Given the description of an element on the screen output the (x, y) to click on. 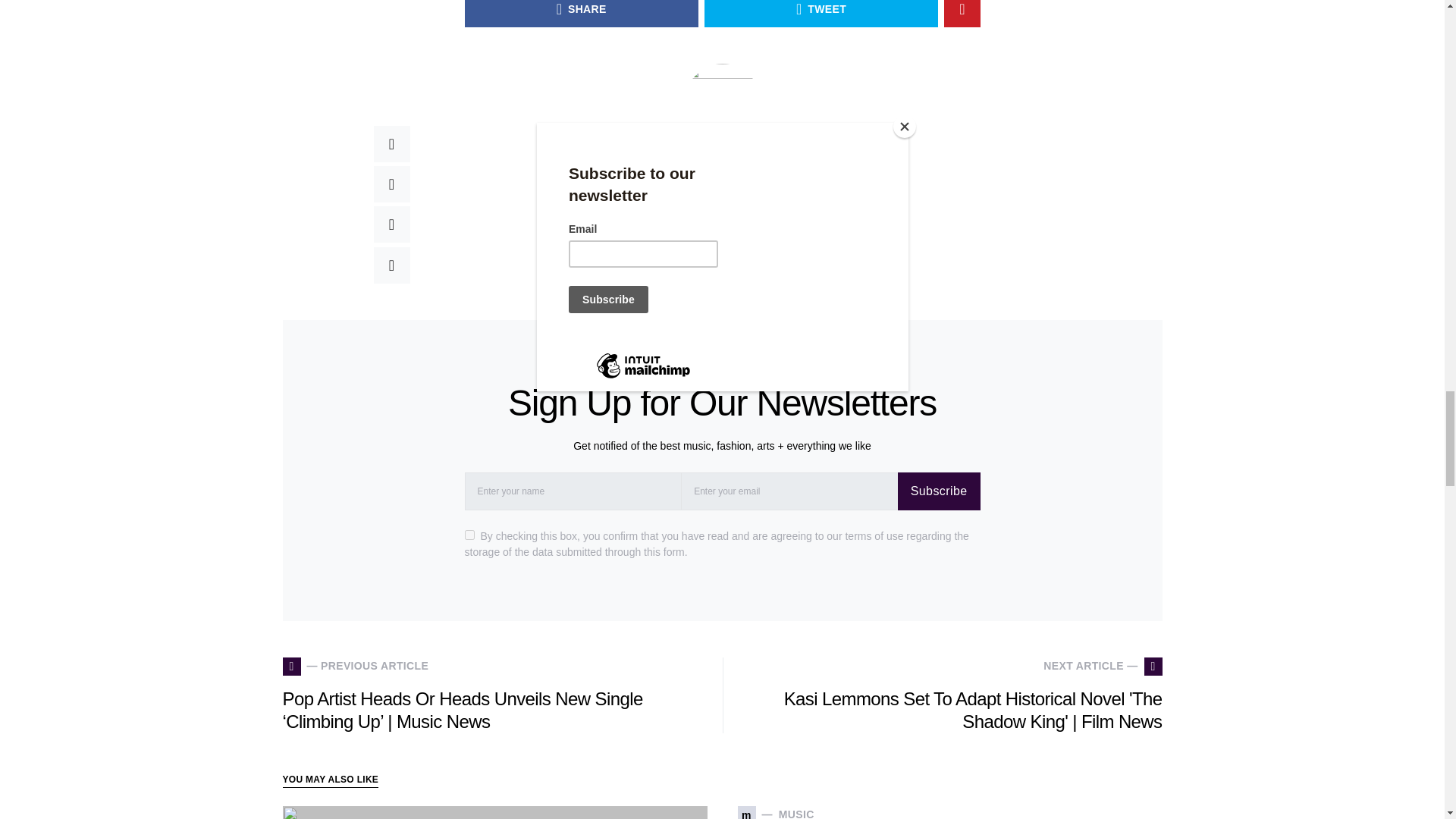
on (469, 534)
